Given the description of an element on the screen output the (x, y) to click on. 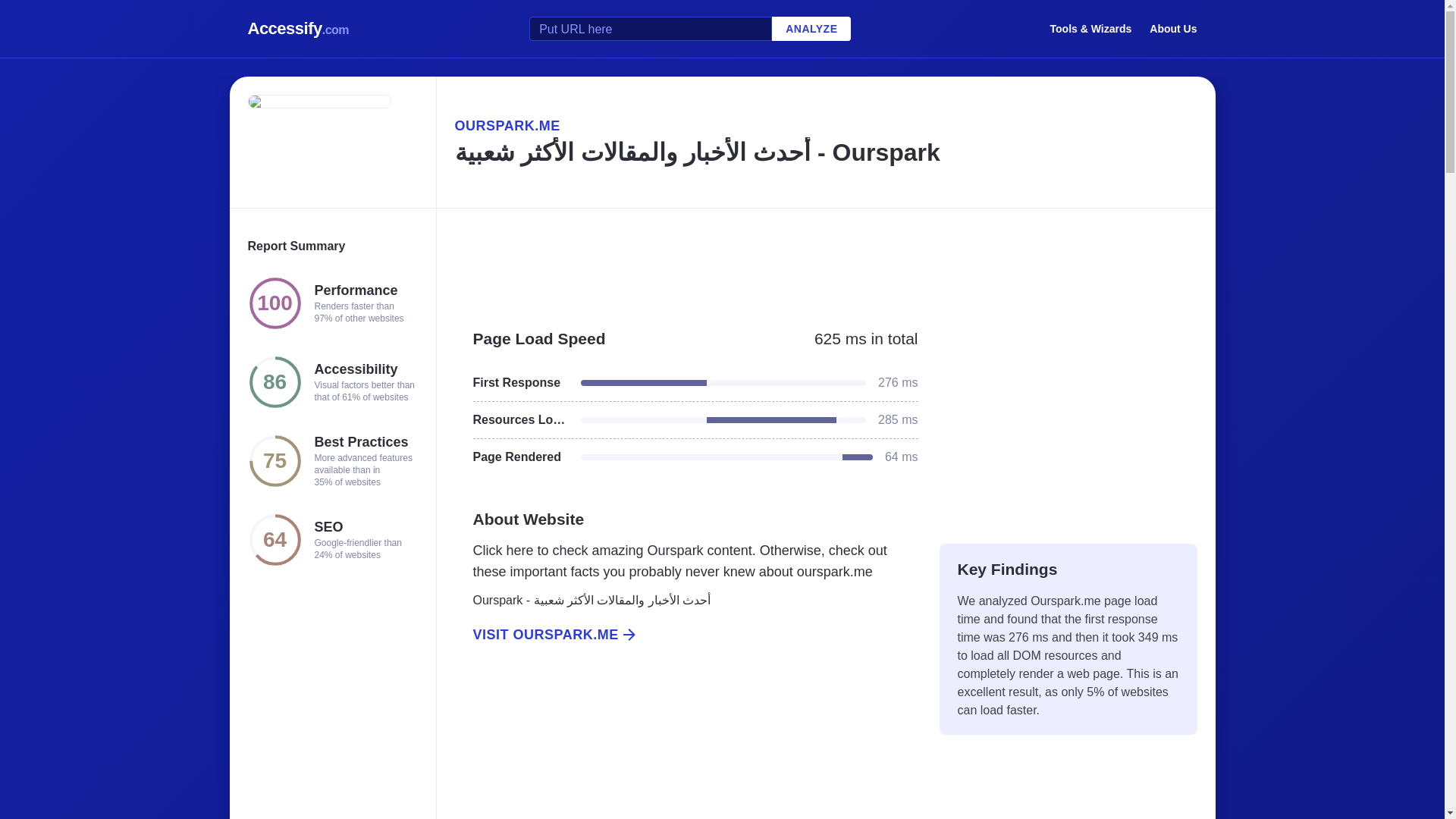
Accessify.com (298, 28)
OURSPARK.ME (825, 126)
About Us (1173, 28)
ANALYZE (810, 28)
VISIT OURSPARK.ME (686, 634)
